Given the description of an element on the screen output the (x, y) to click on. 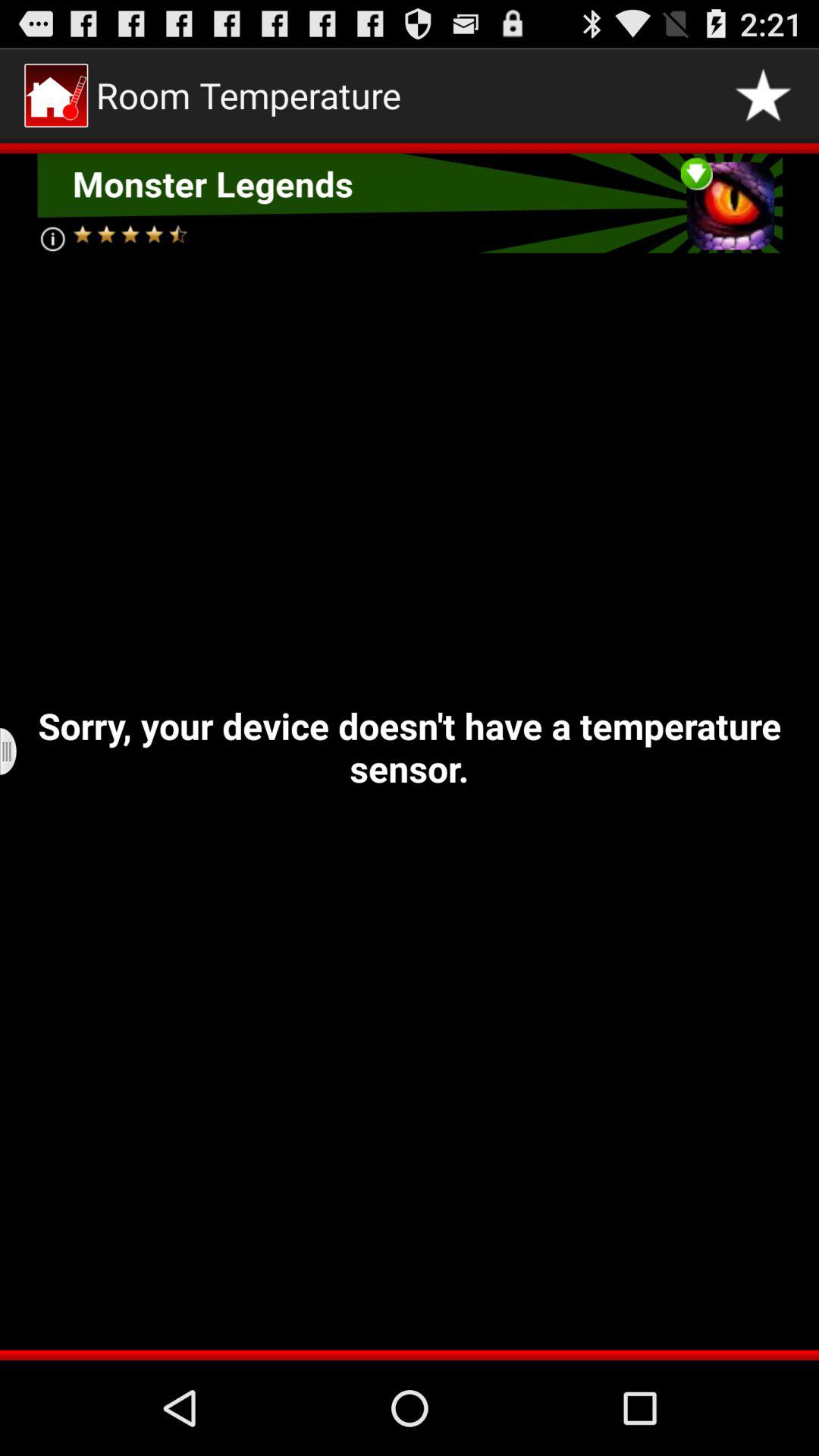
click app next to the room temperature icon (763, 95)
